Given the description of an element on the screen output the (x, y) to click on. 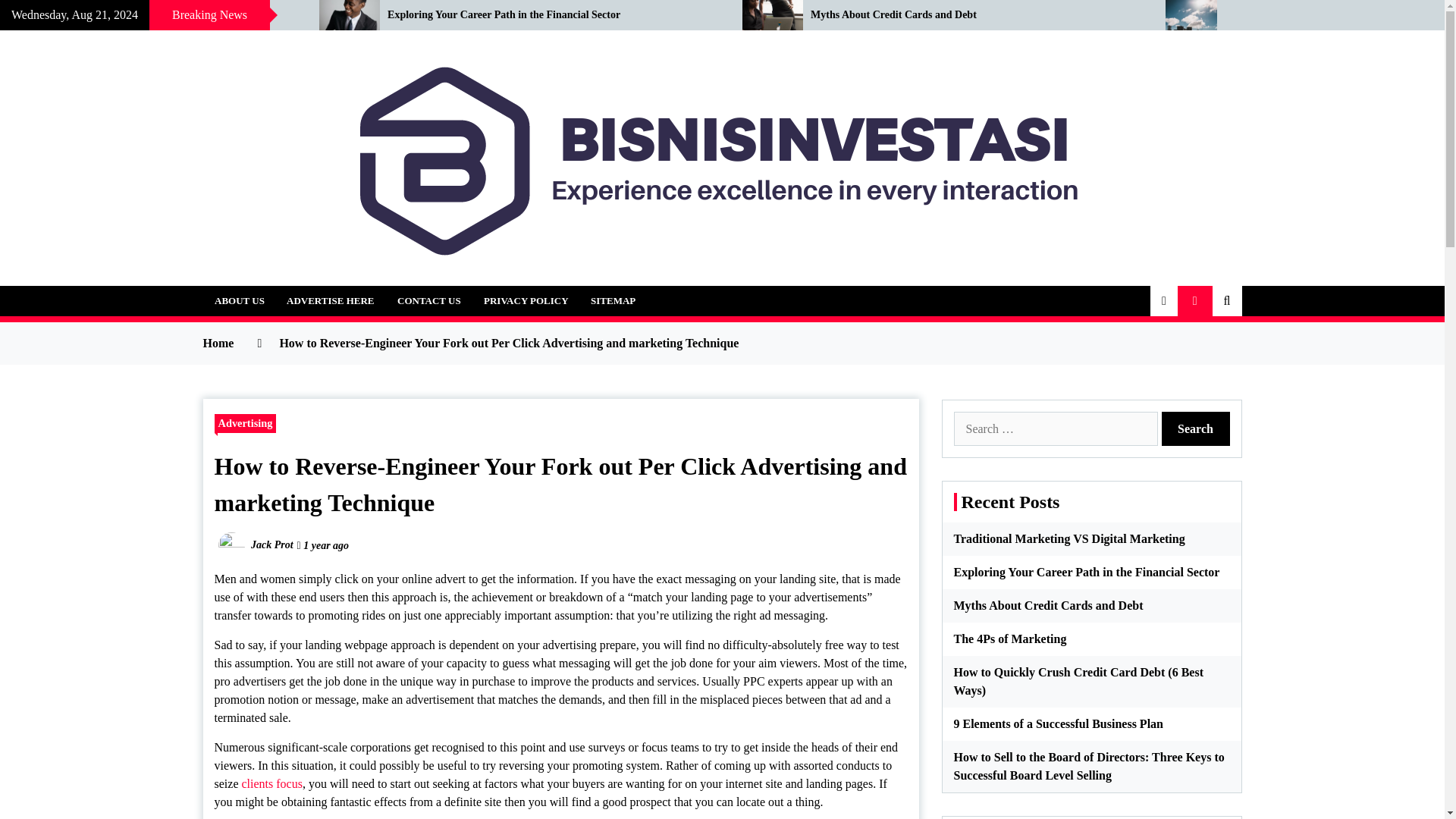
Search (1195, 428)
Traditional Marketing VS Digital Marketing (148, 15)
Search (1195, 428)
Myths About Credit Cards and Debt (976, 15)
Exploring Your Career Path in the Financial Sector (553, 15)
